Given the description of an element on the screen output the (x, y) to click on. 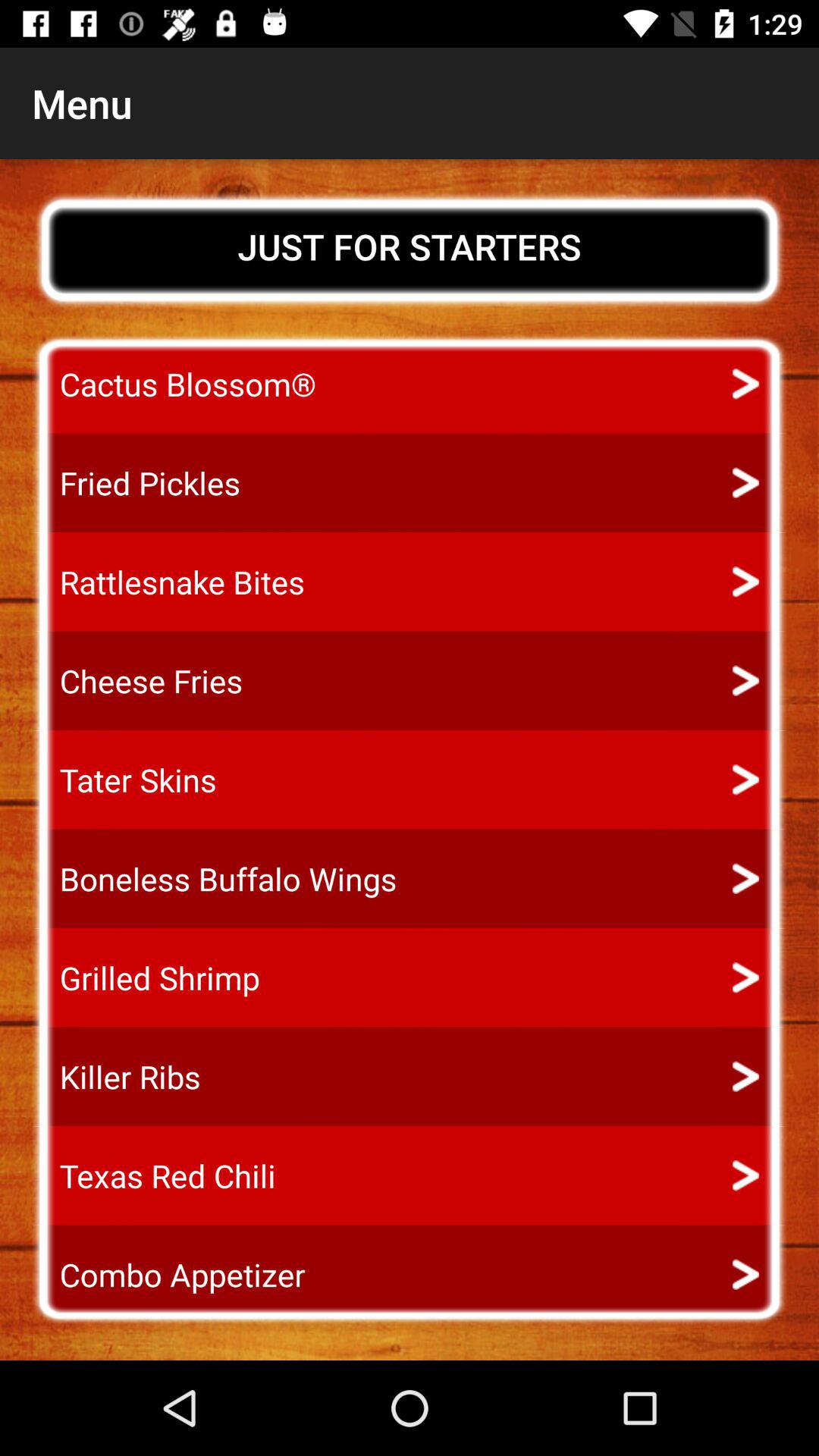
click the killer ribs item (115, 1076)
